Given the description of an element on the screen output the (x, y) to click on. 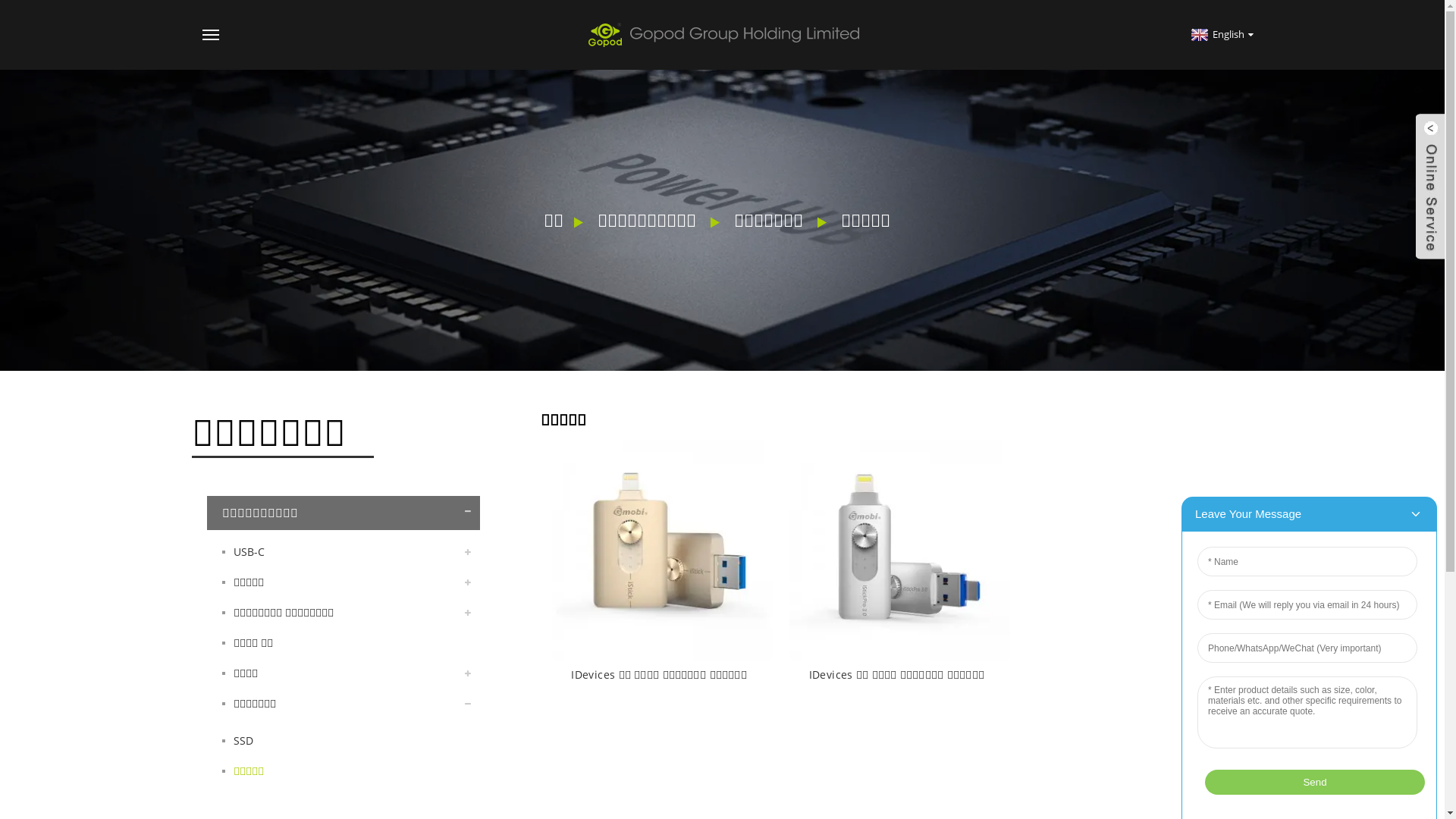
Flash Drive for iDevices/ Element type: hover (899, 548)
Flash Drive for iDevices/ Element type: hover (661, 548)
USB-C Element type: text (342, 551)
English Element type: text (1220, 33)
SSD Element type: text (342, 740)
